Given the description of an element on the screen output the (x, y) to click on. 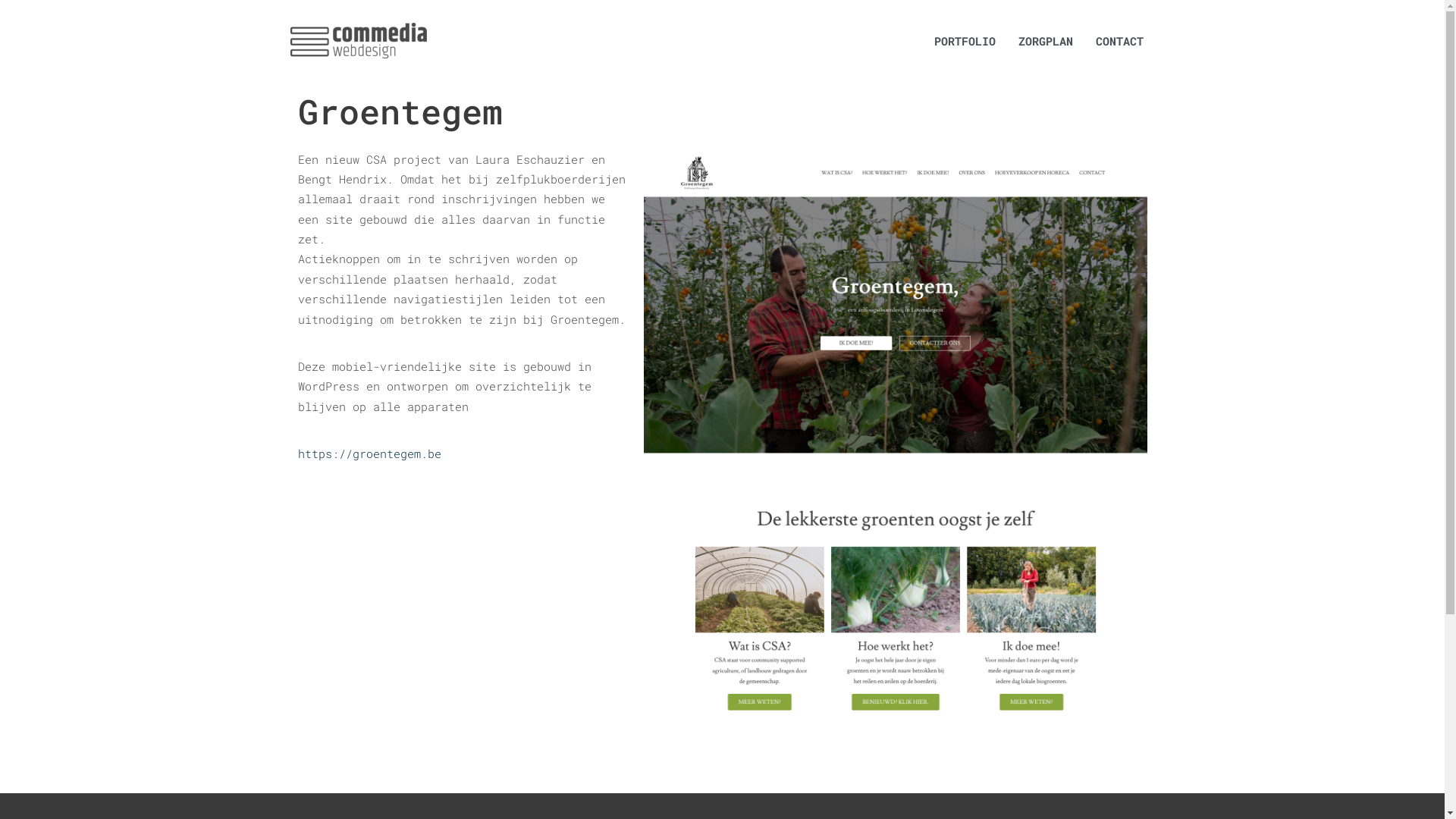
https://groentegem.be Element type: text (368, 453)
ZORGPLAN Element type: text (1045, 40)
PORTFOLIO Element type: text (964, 40)
CONTACT Element type: text (1119, 40)
